Given the description of an element on the screen output the (x, y) to click on. 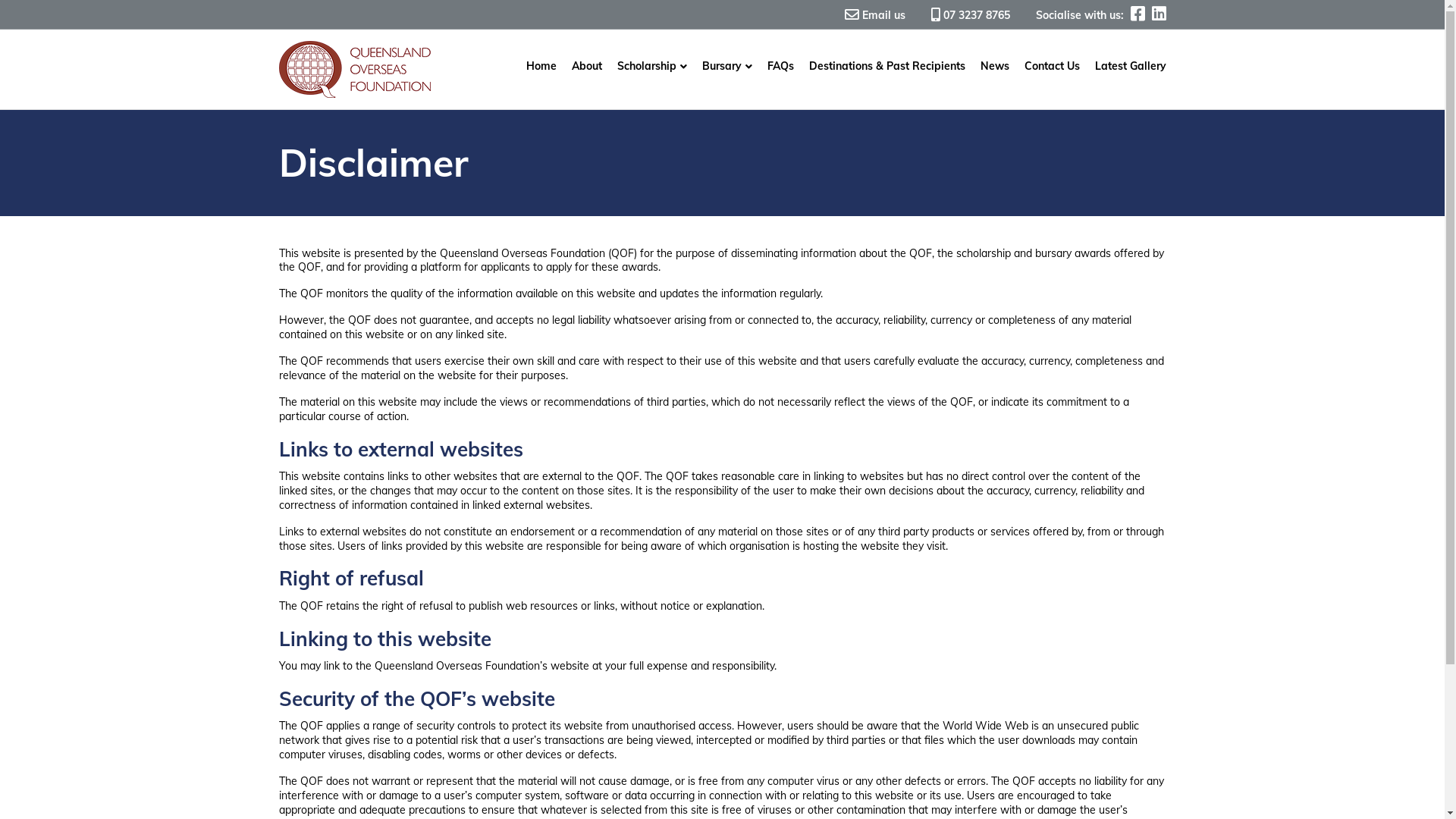
07 3237 8765 Element type: text (970, 14)
Email us Element type: text (874, 14)
Twitter Element type: hover (1157, 14)
Contact Us Element type: text (1051, 66)
About Element type: text (586, 66)
News Element type: text (994, 66)
Latest Gallery Element type: text (1126, 66)
Destinations & Past Recipients Element type: text (886, 66)
Home Element type: text (541, 66)
FAQs Element type: text (780, 66)
Facebook Element type: hover (1135, 14)
Bursary Element type: text (726, 66)
Scholarship Element type: text (651, 66)
